Given the description of an element on the screen output the (x, y) to click on. 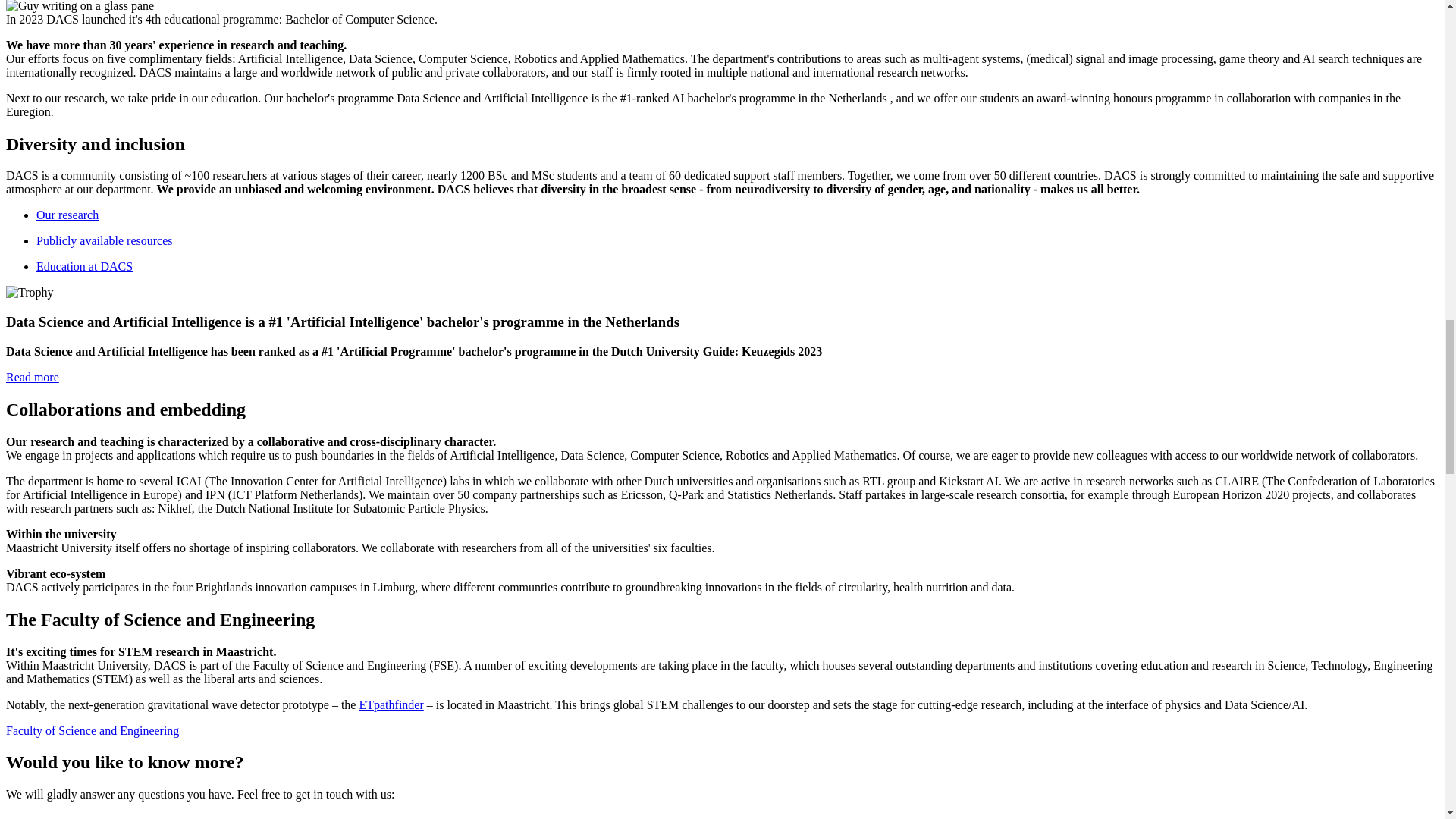
Our research (67, 214)
Publicly available resources (104, 240)
Education at DACS (84, 266)
